Given the description of an element on the screen output the (x, y) to click on. 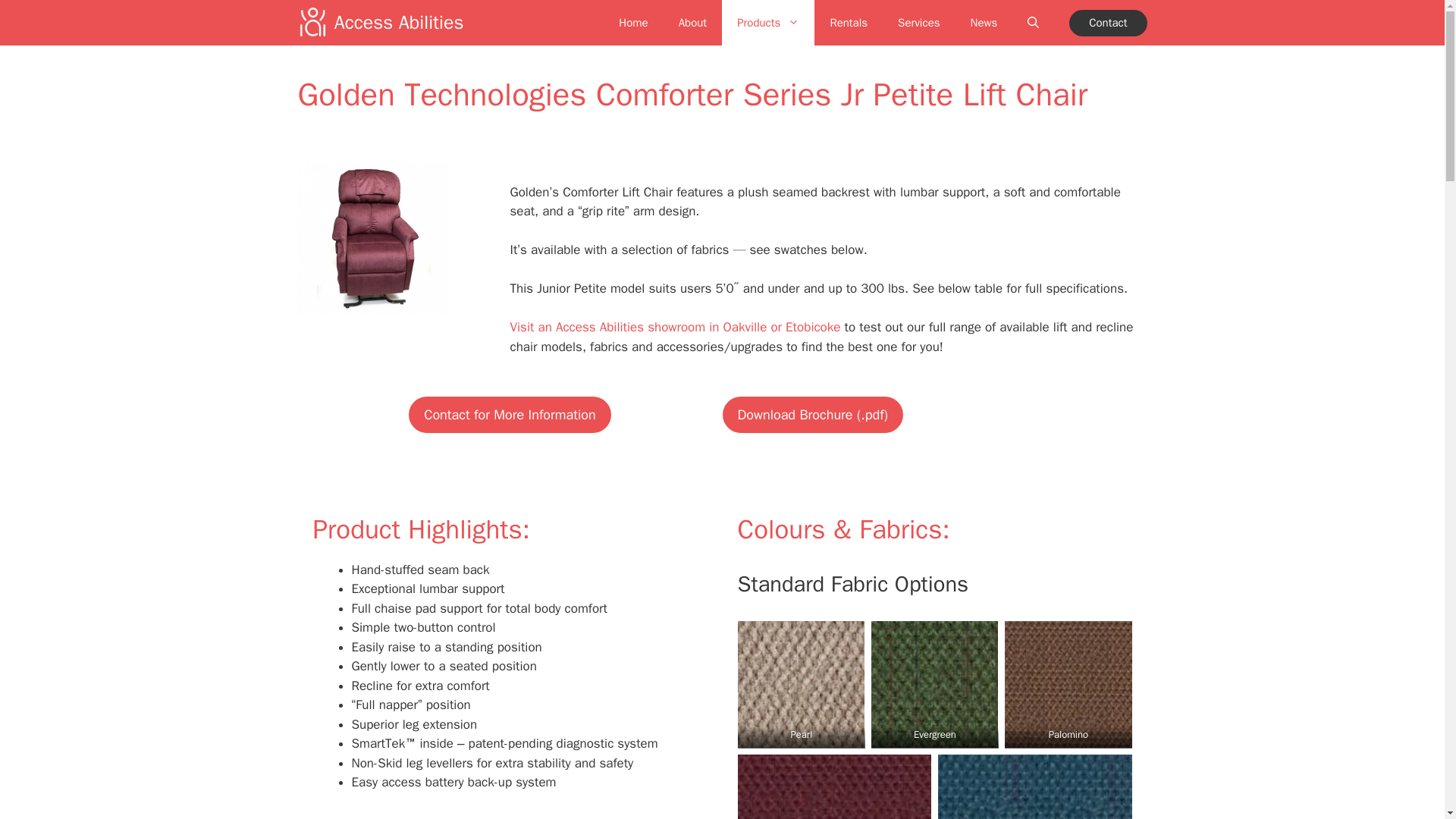
Access Abilities (399, 22)
Home (633, 22)
Products (767, 22)
About (692, 22)
